Given the description of an element on the screen output the (x, y) to click on. 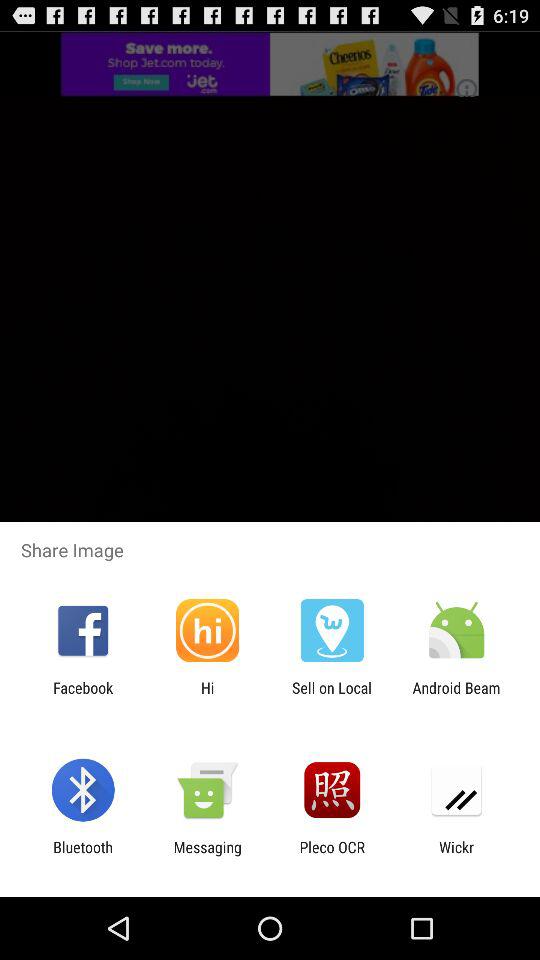
scroll to wickr (456, 856)
